Given the description of an element on the screen output the (x, y) to click on. 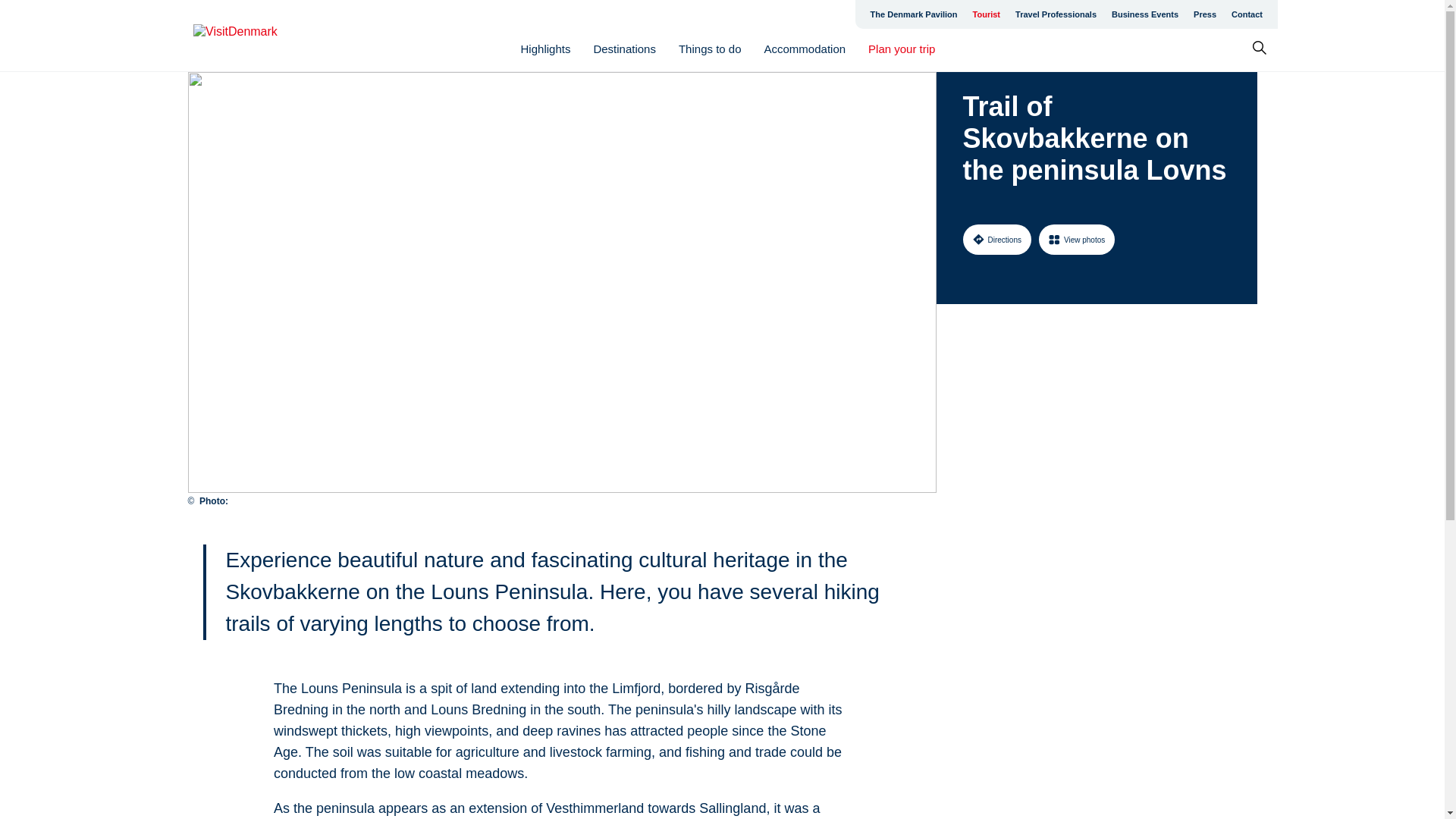
View photos (1077, 239)
Accommodation (804, 48)
Contact (1246, 14)
Directions (996, 239)
Plan your trip (900, 48)
Things to do (709, 48)
Go to homepage (253, 35)
Tourist (986, 14)
Press (1205, 14)
Highlights (545, 48)
Travel Professionals (1055, 14)
The Denmark Pavilion (914, 14)
Destinations (624, 48)
Business Events (1144, 14)
